Given the description of an element on the screen output the (x, y) to click on. 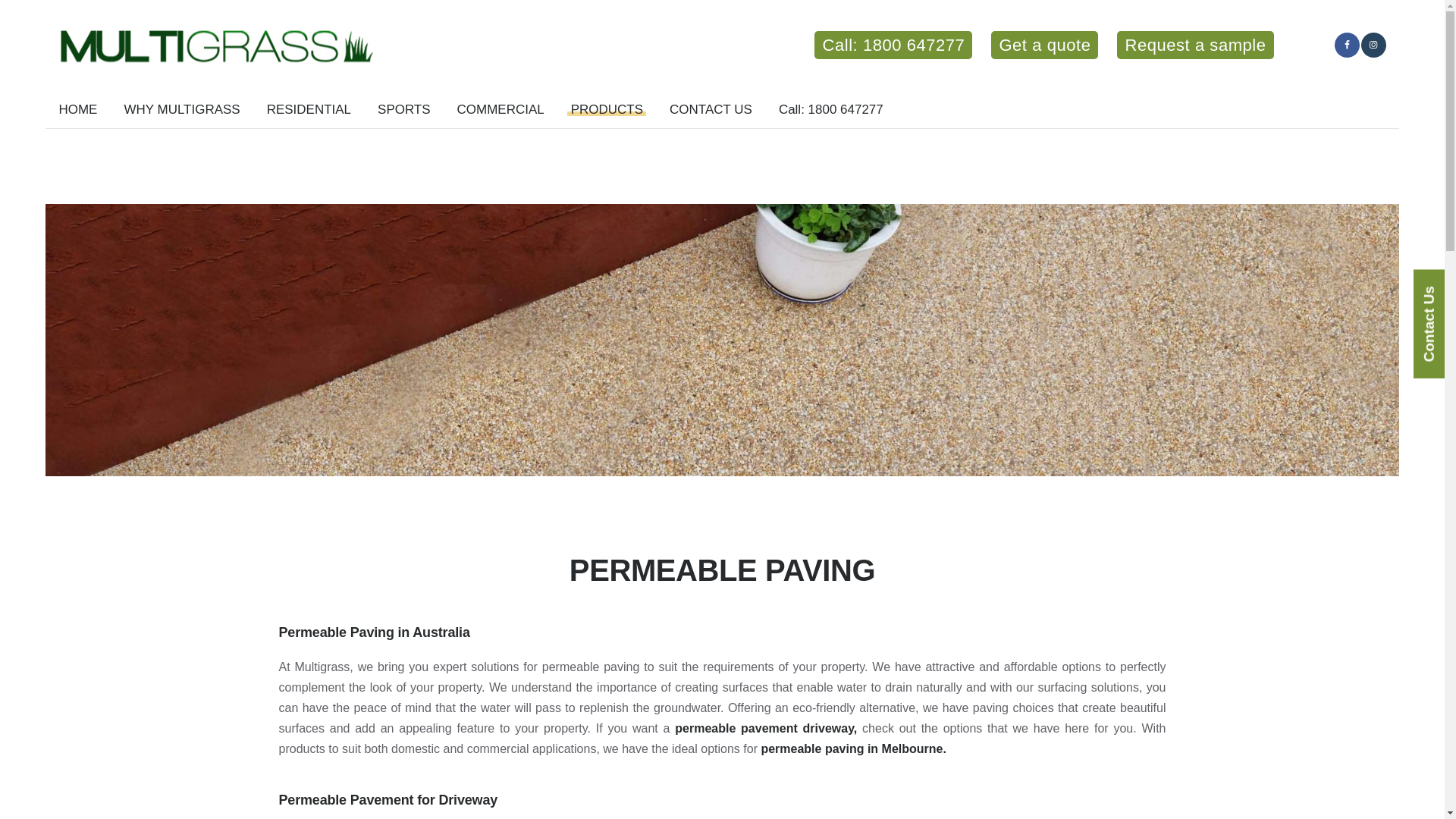
COMMERCIAL (500, 108)
SPORTS (404, 108)
Request a sample (1194, 44)
Call: 1800 647277 (892, 44)
WHY MULTIGRASS (181, 108)
RESIDENTIAL (308, 108)
Get a quote (1044, 44)
HOME (77, 108)
